Given the description of an element on the screen output the (x, y) to click on. 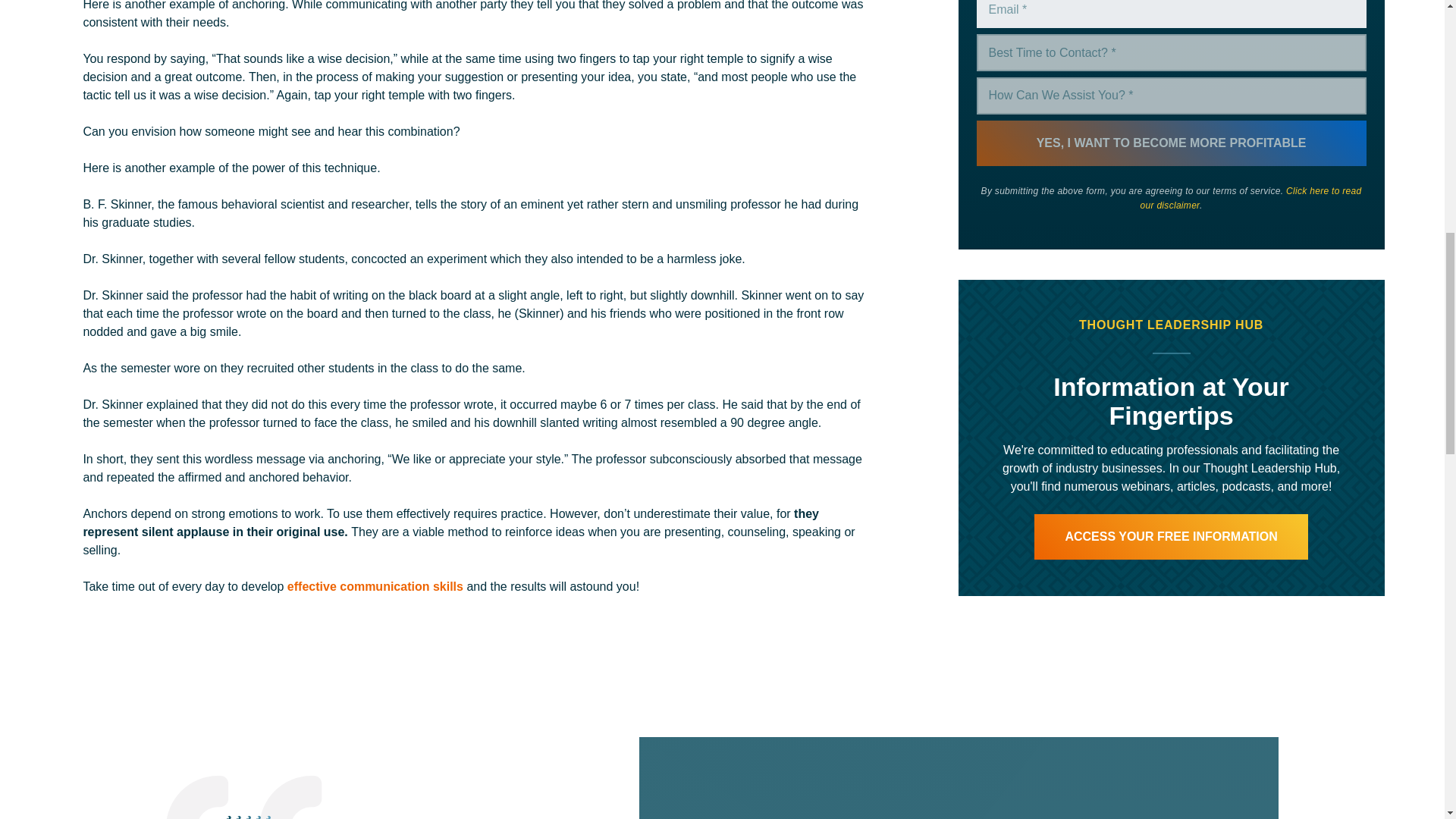
Communication Tips (374, 585)
